Given the description of an element on the screen output the (x, y) to click on. 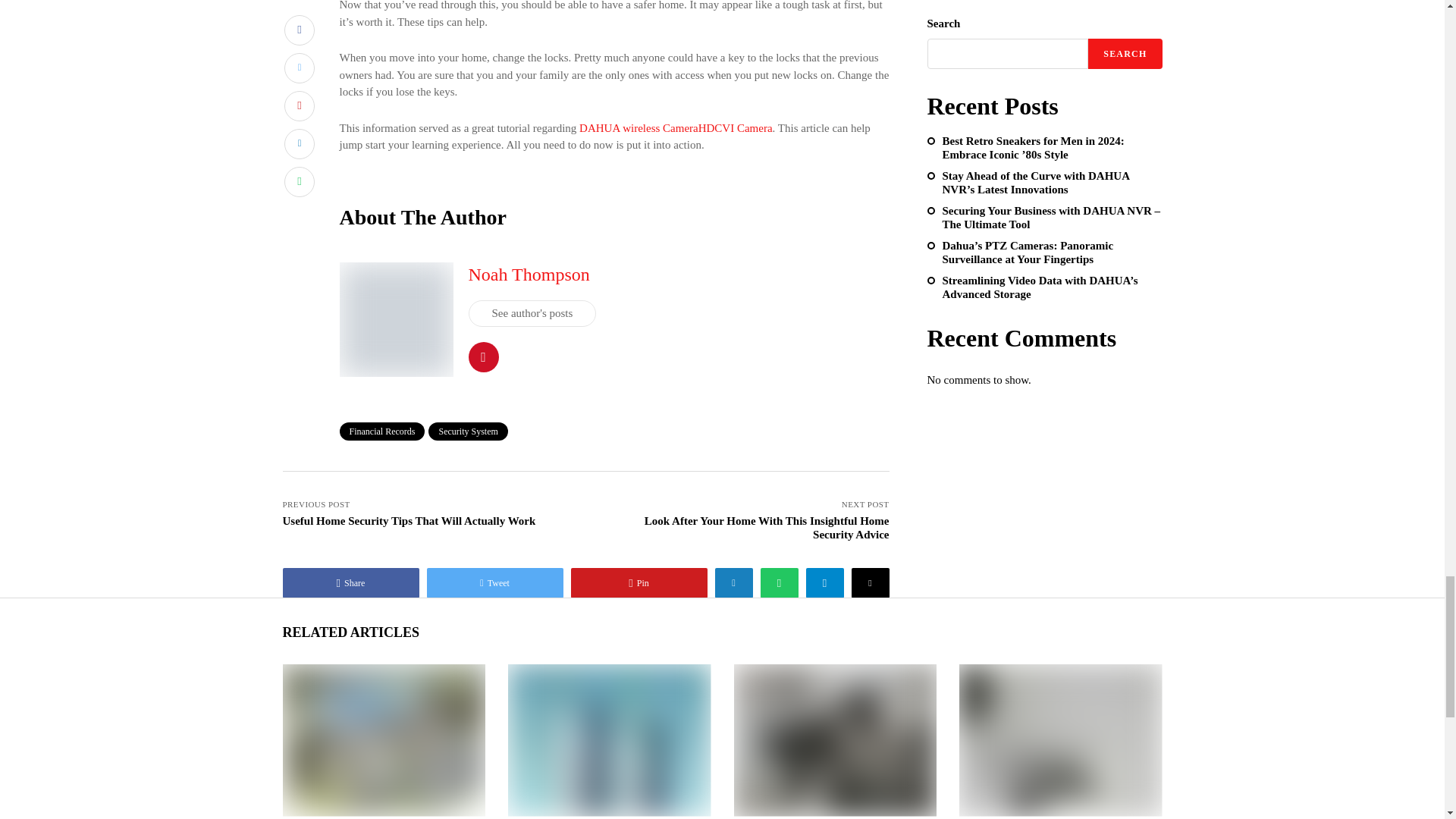
The Future of Surveillance: DAHUA Network Cameras (382, 739)
